Given the description of an element on the screen output the (x, y) to click on. 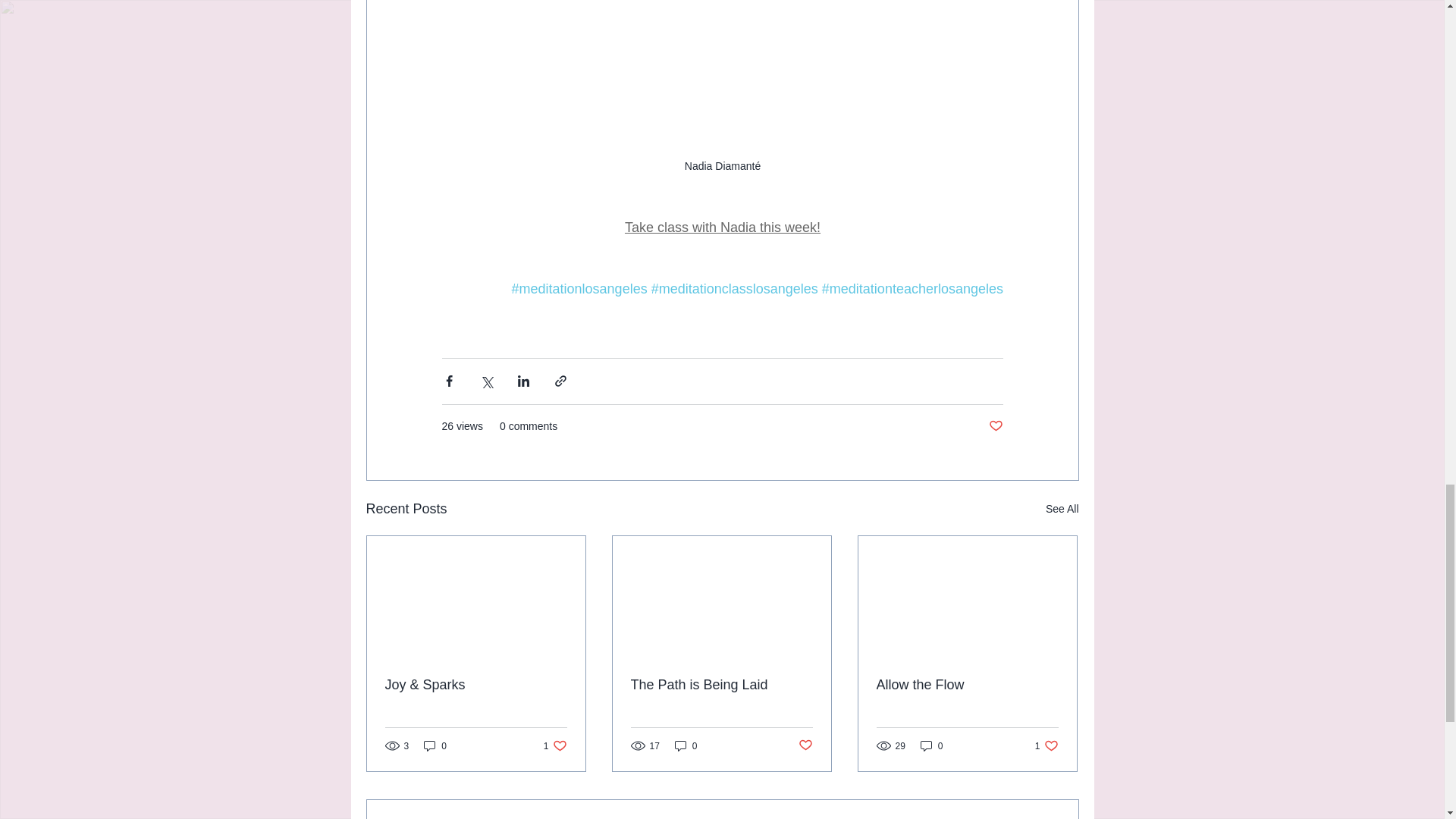
Post not marked as liked (555, 745)
0 (804, 745)
The Path is Being Laid (931, 745)
See All (721, 684)
Allow the Flow (1061, 508)
Post not marked as liked (967, 684)
Take class with Nadia this week! (995, 426)
0 (721, 227)
0 (685, 745)
